Given the description of an element on the screen output the (x, y) to click on. 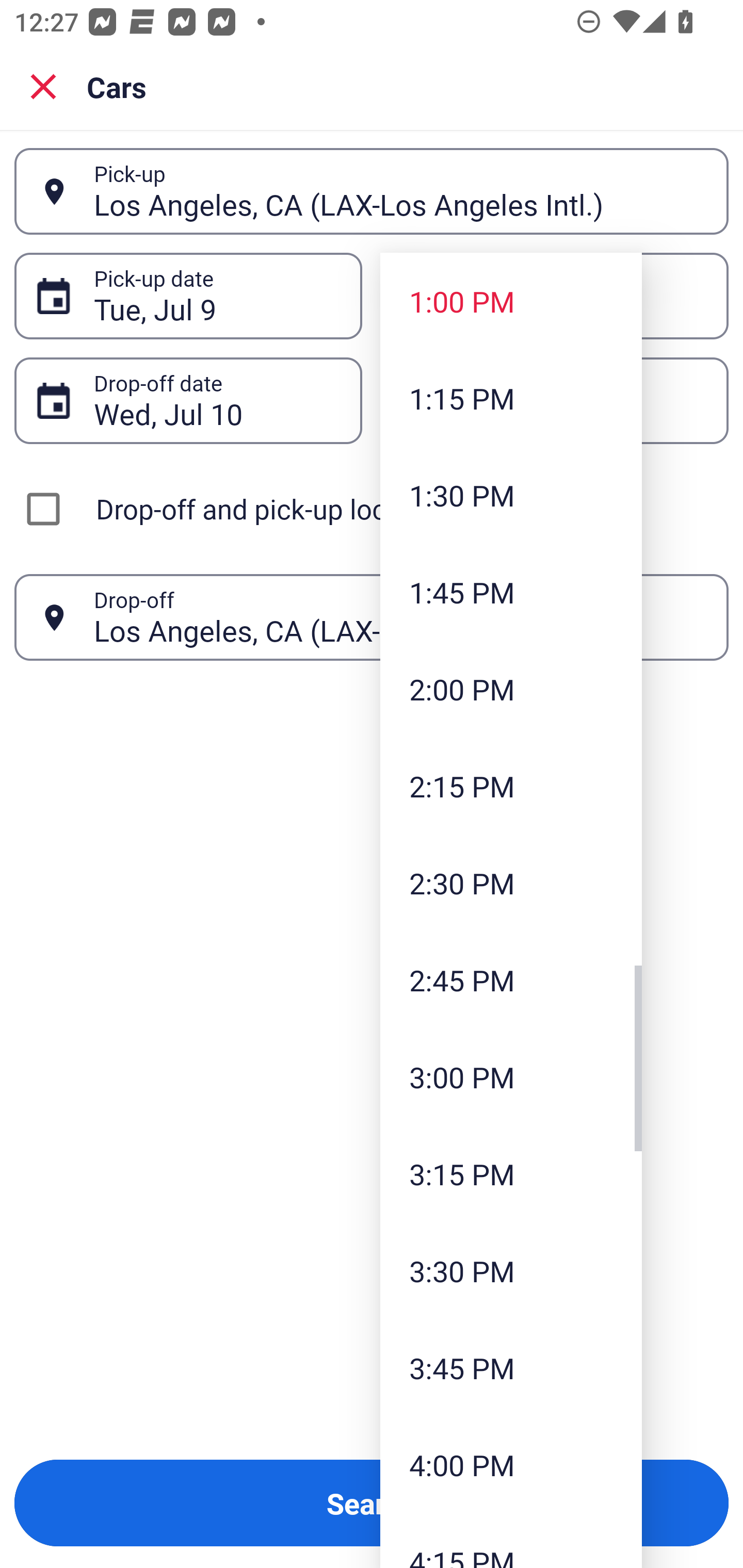
1:00 PM (510, 300)
1:15 PM (510, 397)
1:30 PM (510, 495)
1:45 PM (510, 592)
2:00 PM (510, 688)
2:15 PM (510, 785)
2:30 PM (510, 882)
2:45 PM (510, 979)
3:00 PM (510, 1076)
3:15 PM (510, 1174)
3:30 PM (510, 1270)
3:45 PM (510, 1366)
4:00 PM (510, 1464)
